Given the description of an element on the screen output the (x, y) to click on. 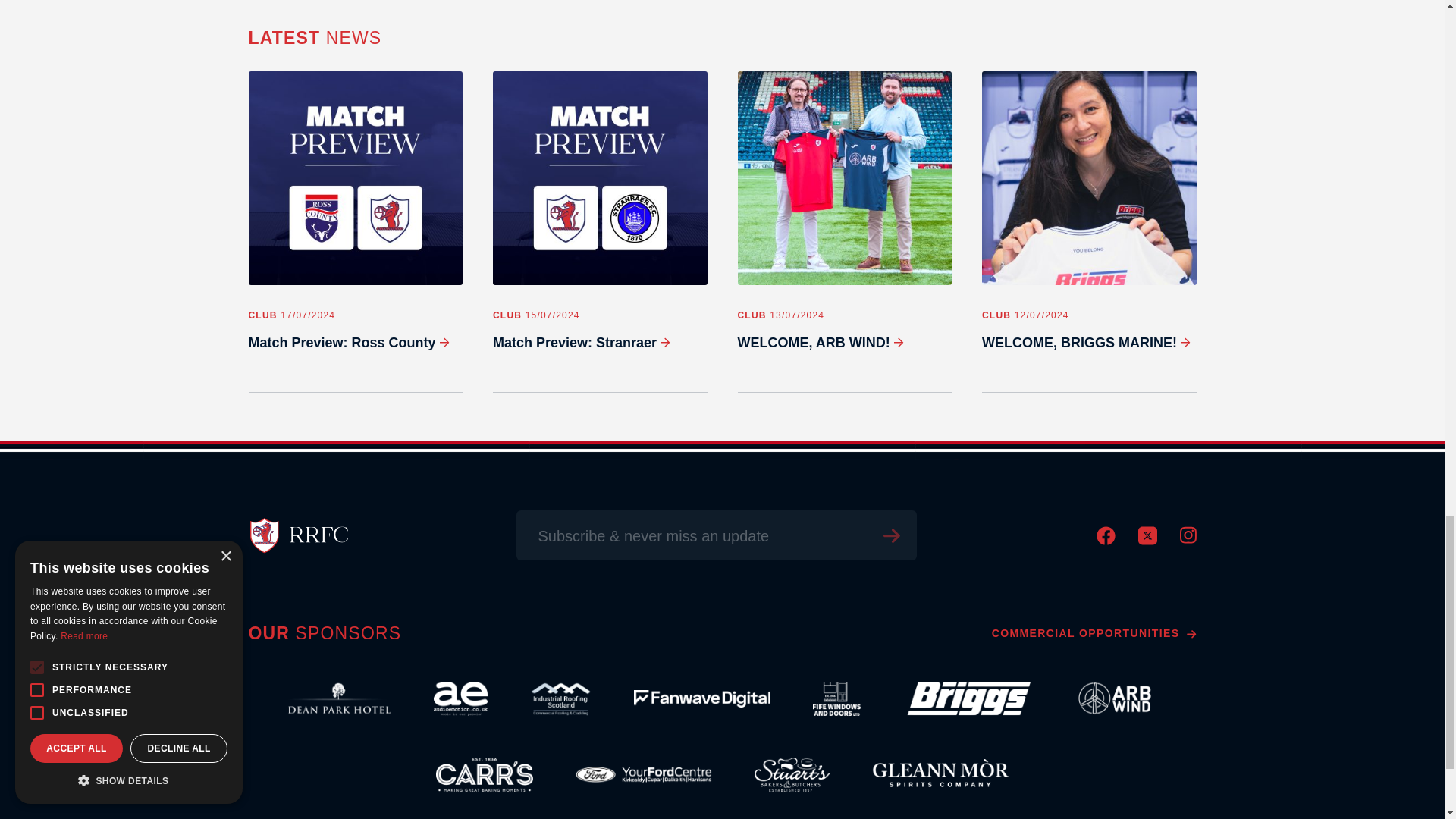
Fanwave Digital (701, 698)
Find us on Instagram (1187, 539)
Commercial Opportunities (1093, 633)
Find us on Facebook (1105, 541)
Industrial Roofing Scotland (560, 698)
Find us on X (1146, 541)
Brigg's Marine (966, 698)
Your Ford Centre (643, 775)
ARB Wind (1114, 698)
Dean Park Hotel (339, 698)
Carr's (484, 775)
